Given the description of an element on the screen output the (x, y) to click on. 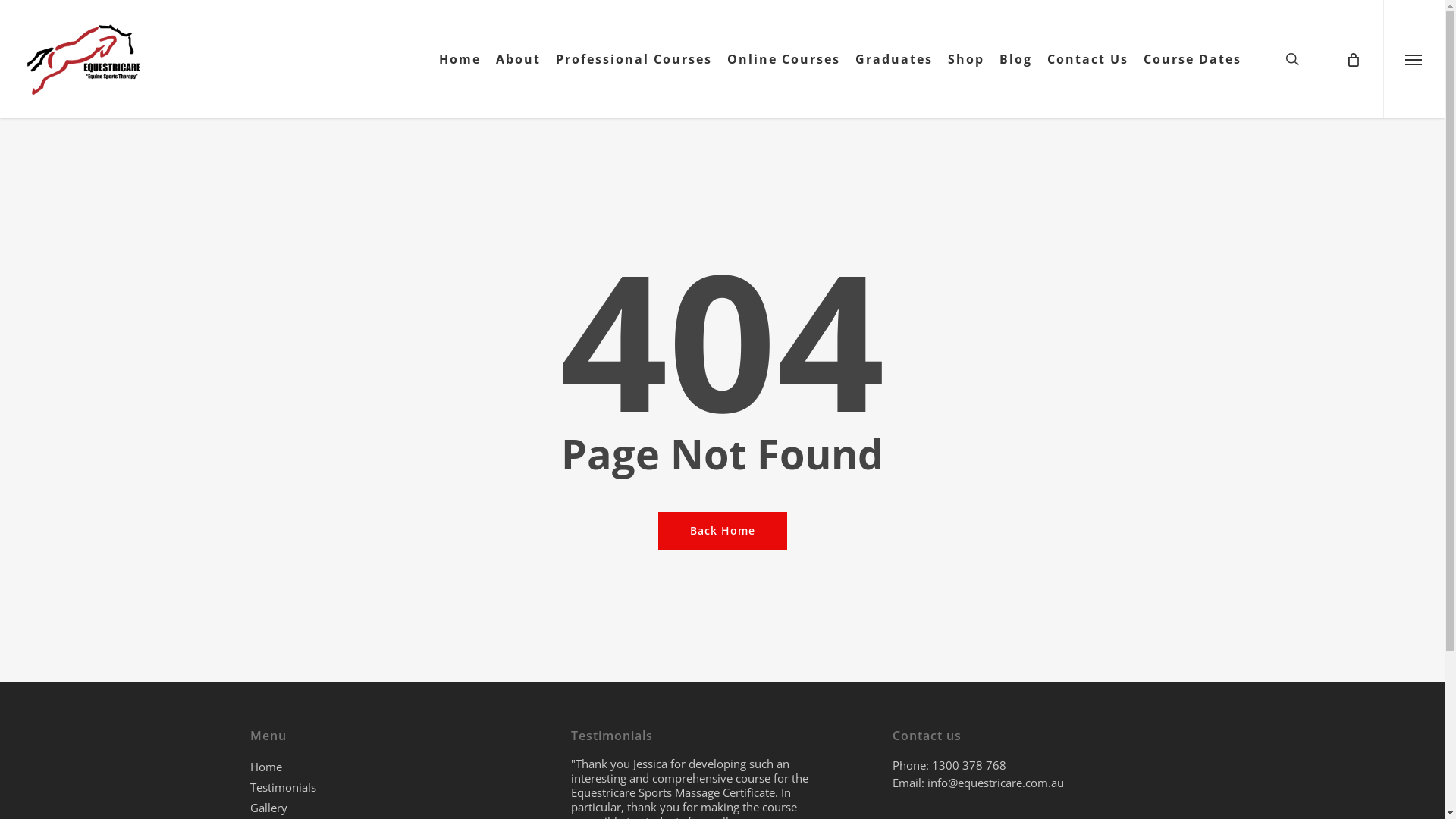
Online Courses Element type: text (783, 58)
info@equestricare.com.au Element type: text (993, 782)
Contact Us Element type: text (1087, 58)
search Element type: text (1293, 59)
1300 378 768 Element type: text (968, 764)
Course Dates Element type: text (1191, 58)
Testimonials Element type: text (401, 787)
About Element type: text (518, 58)
Blog Element type: text (1015, 58)
Graduates Element type: text (893, 58)
Shop Element type: text (965, 58)
Home Element type: text (459, 58)
Menu Element type: text (1413, 59)
Gallery Element type: text (401, 807)
Home Element type: text (401, 766)
Back Home Element type: text (722, 530)
Professional Courses Element type: text (633, 58)
